Given the description of an element on the screen output the (x, y) to click on. 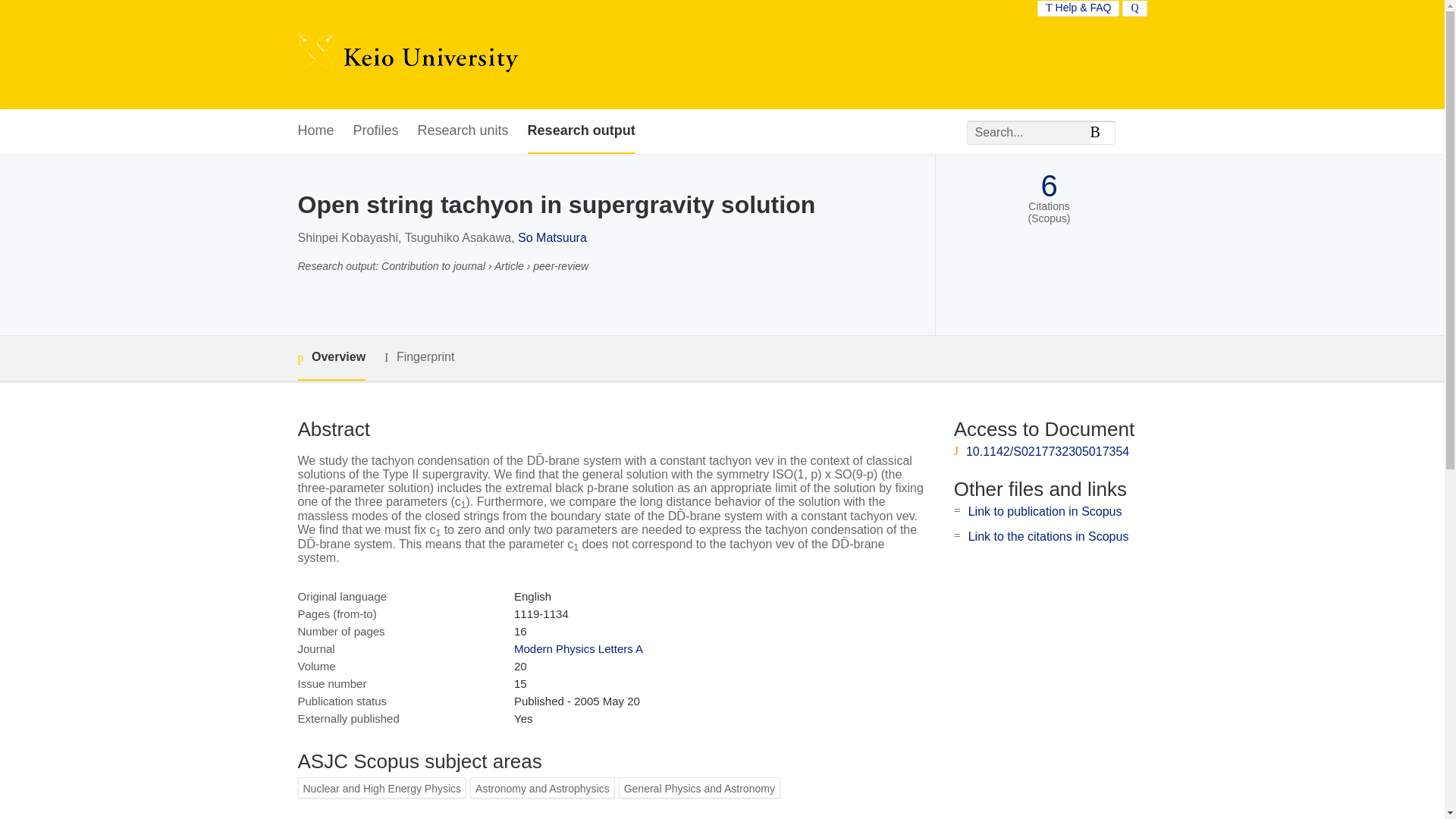
Overview (331, 357)
Research output (580, 130)
Home (315, 130)
Link to the citations in Scopus (1048, 535)
So Matsuura (552, 237)
Modern Physics Letters A (578, 648)
Profiles (375, 130)
Keio University Home (407, 54)
Link to publication in Scopus (1045, 511)
Research units (462, 130)
6 (1049, 185)
Fingerprint (419, 357)
